Given the description of an element on the screen output the (x, y) to click on. 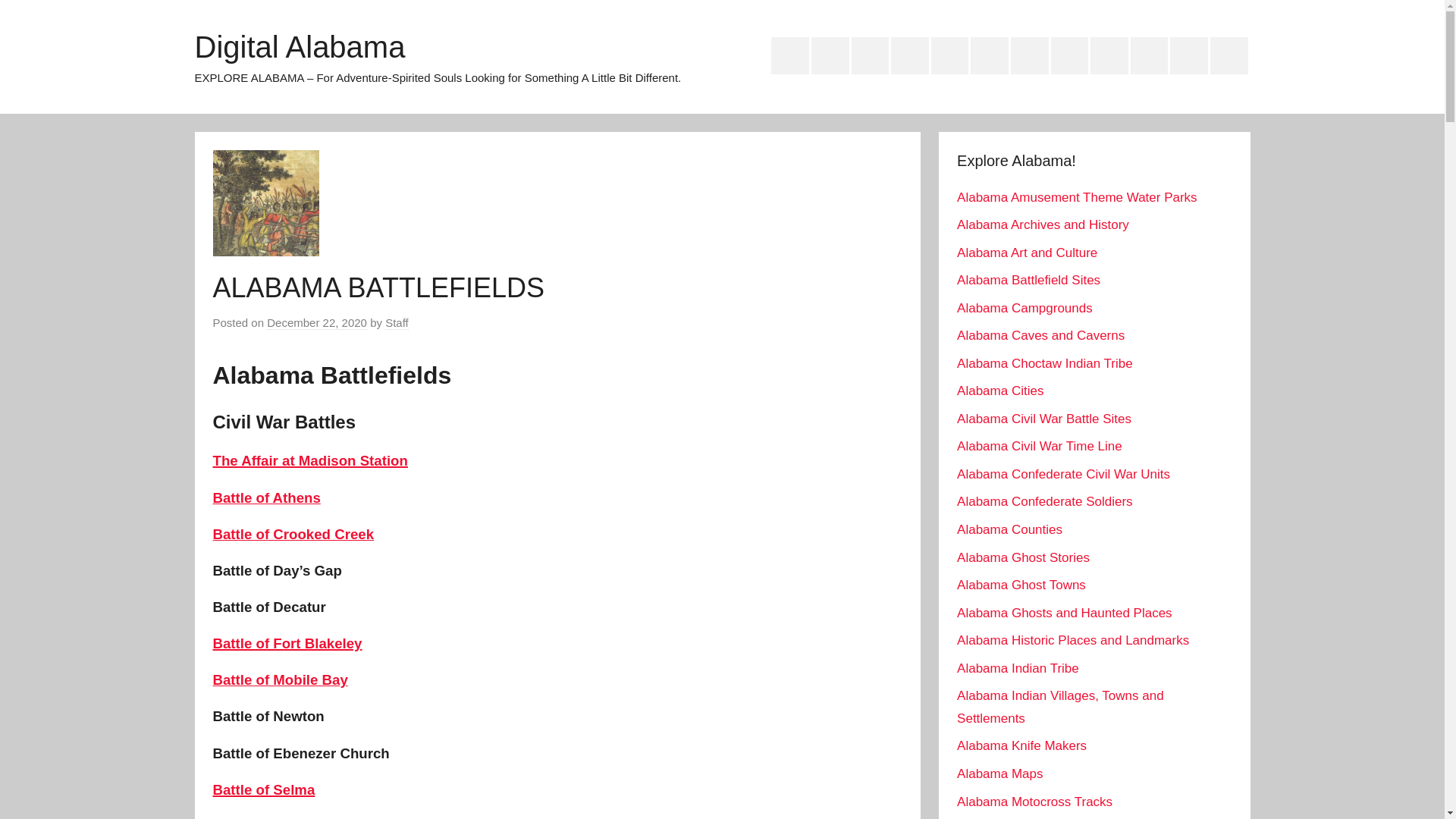
Staff (397, 323)
Battle of Crooked Creek (293, 534)
Best Small Towns in Alabama (950, 55)
The Affair at Madison Station (309, 460)
Metal Detecting In Alabama (1228, 55)
Alabama Archives and History (829, 55)
Battle of Fort Blakeley (286, 642)
Alabama Treasure Legends (909, 55)
Battle of Mobile Bay (279, 679)
HISTORY OF ALABAMA by Albert James Pickett (1070, 55)
December 22, 2020 (316, 323)
View all posts by Staff (397, 323)
History of Alabama with Melvin Cane (1109, 55)
